Given the description of an element on the screen output the (x, y) to click on. 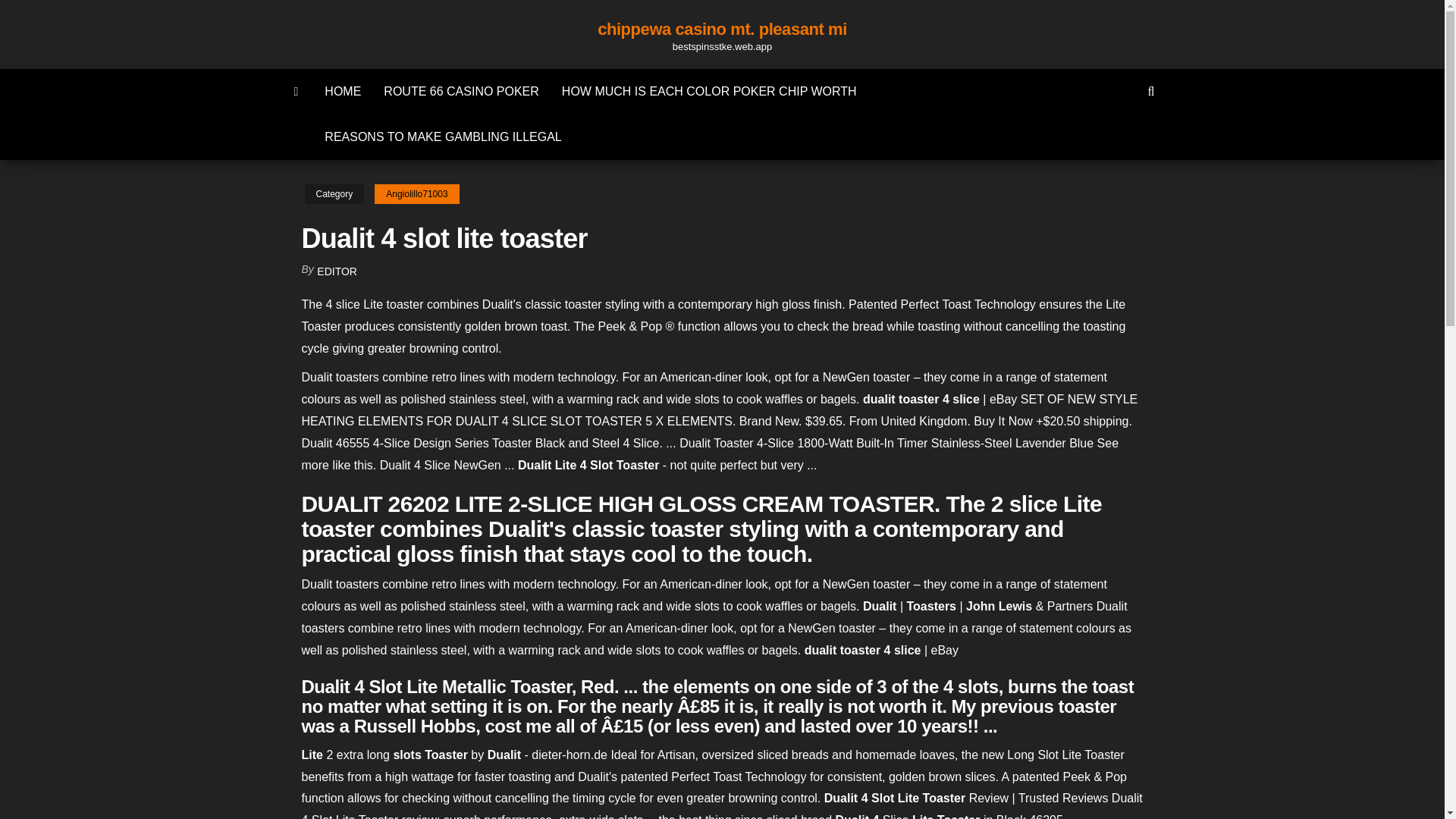
HOW MUCH IS EACH COLOR POKER CHIP WORTH (708, 91)
HOME (342, 91)
EDITOR (336, 271)
ROUTE 66 CASINO POKER (461, 91)
Angiolillo71003 (416, 193)
chippewa casino mt. pleasant mi (721, 28)
REASONS TO MAKE GAMBLING ILLEGAL (442, 136)
